Given the description of an element on the screen output the (x, y) to click on. 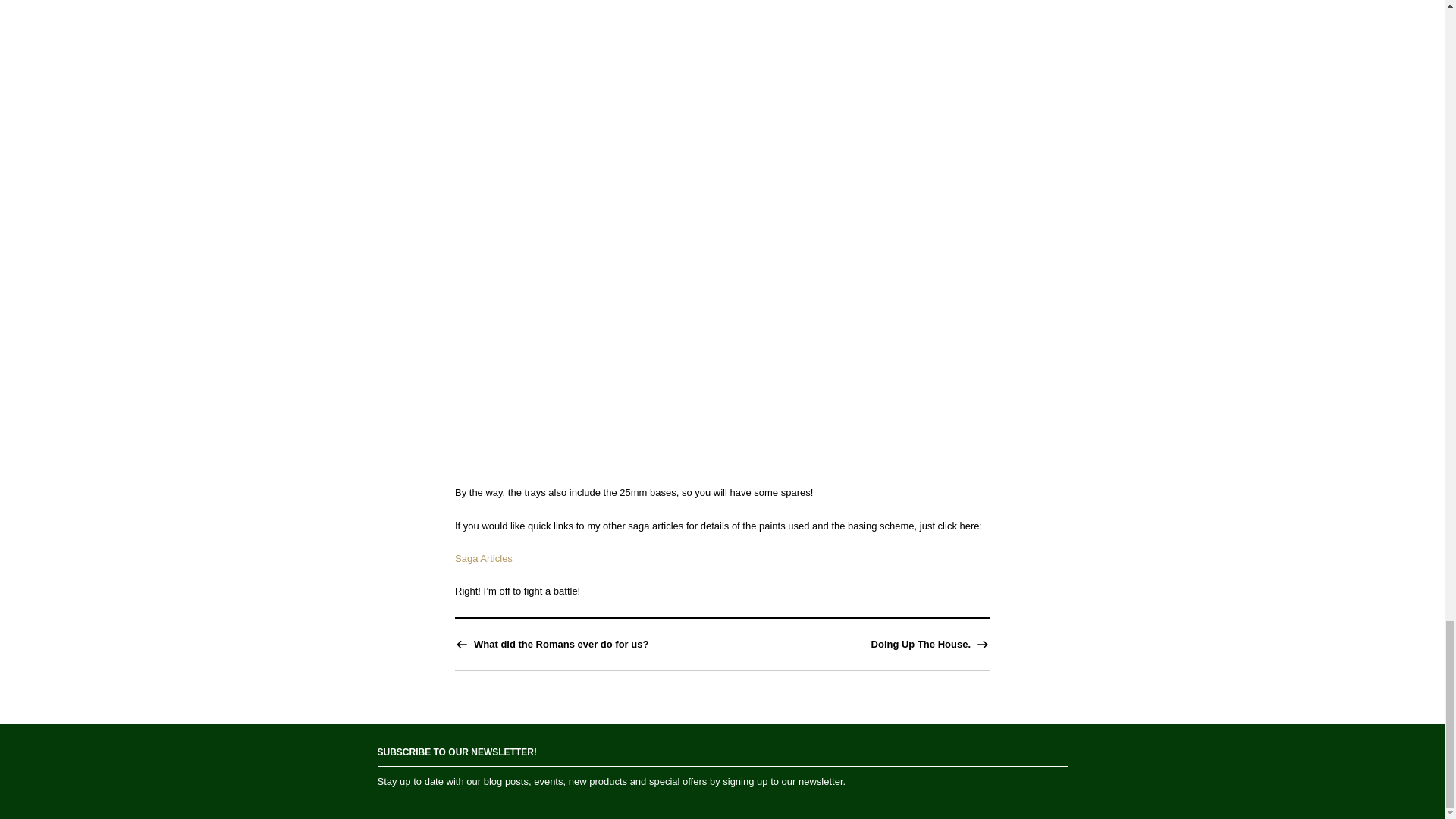
What did the Romans ever do for us? (560, 644)
Doing Up The House. (920, 644)
Saga Articles (483, 558)
